Given the description of an element on the screen output the (x, y) to click on. 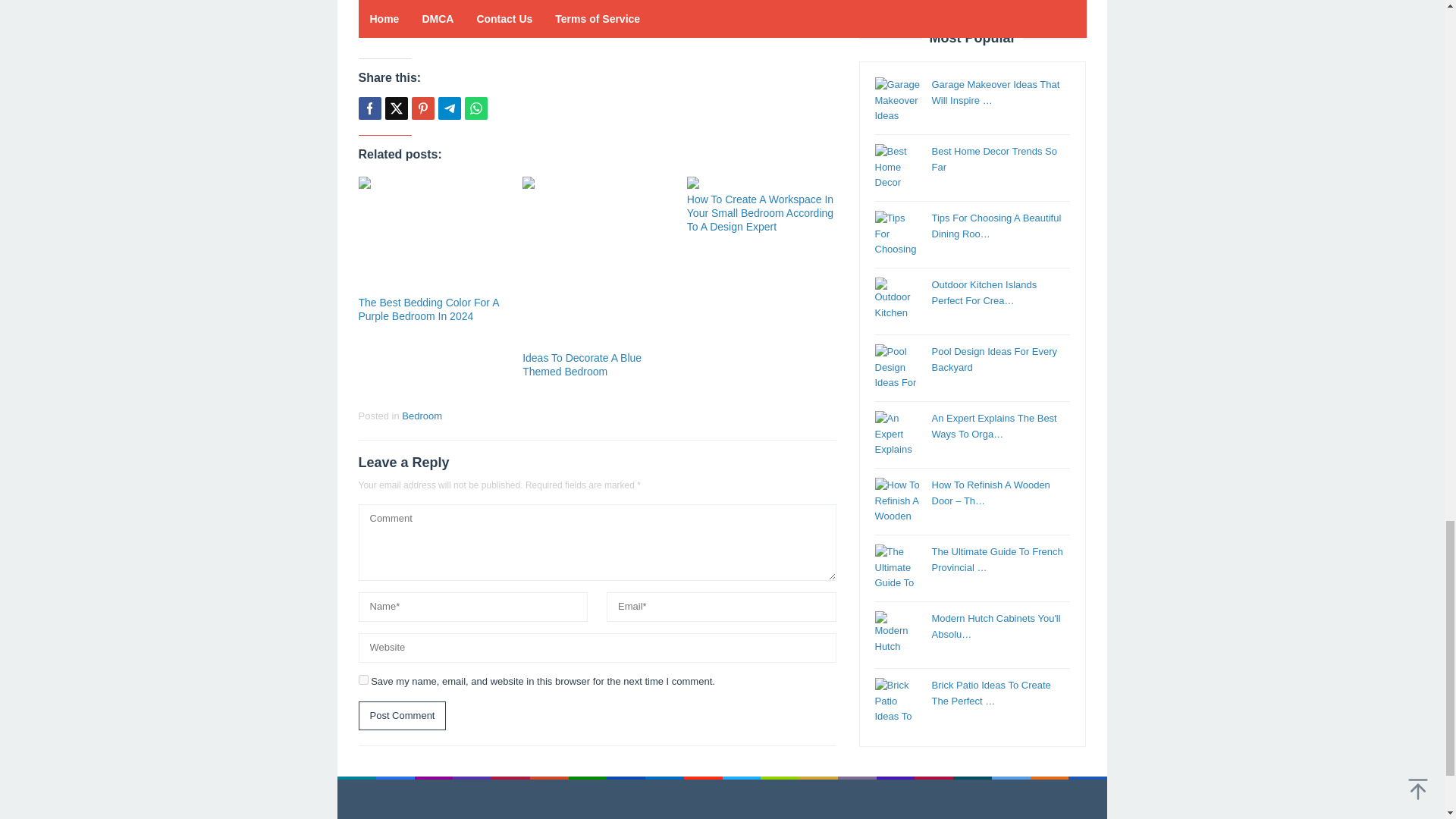
Ideas To Decorate A Blue Themed Bedroom (582, 364)
Telegram Share (449, 108)
Post Comment (401, 715)
Share this (369, 108)
yes (363, 679)
Whatsapp (475, 108)
